Given the description of an element on the screen output the (x, y) to click on. 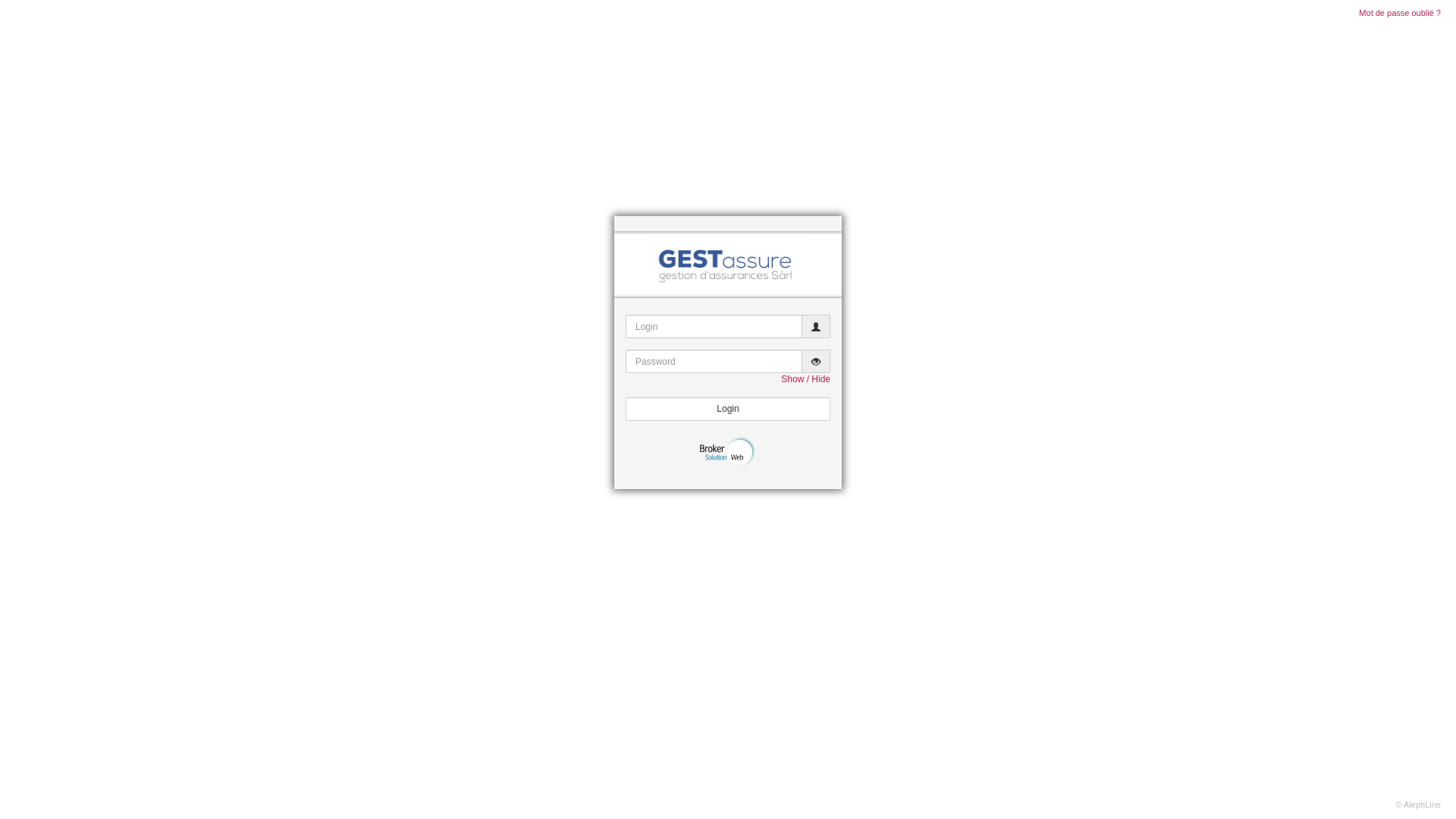
Show / Hide Element type: text (805, 379)
Broker Solution Web Element type: hover (727, 451)
Login Element type: text (727, 408)
